Given the description of an element on the screen output the (x, y) to click on. 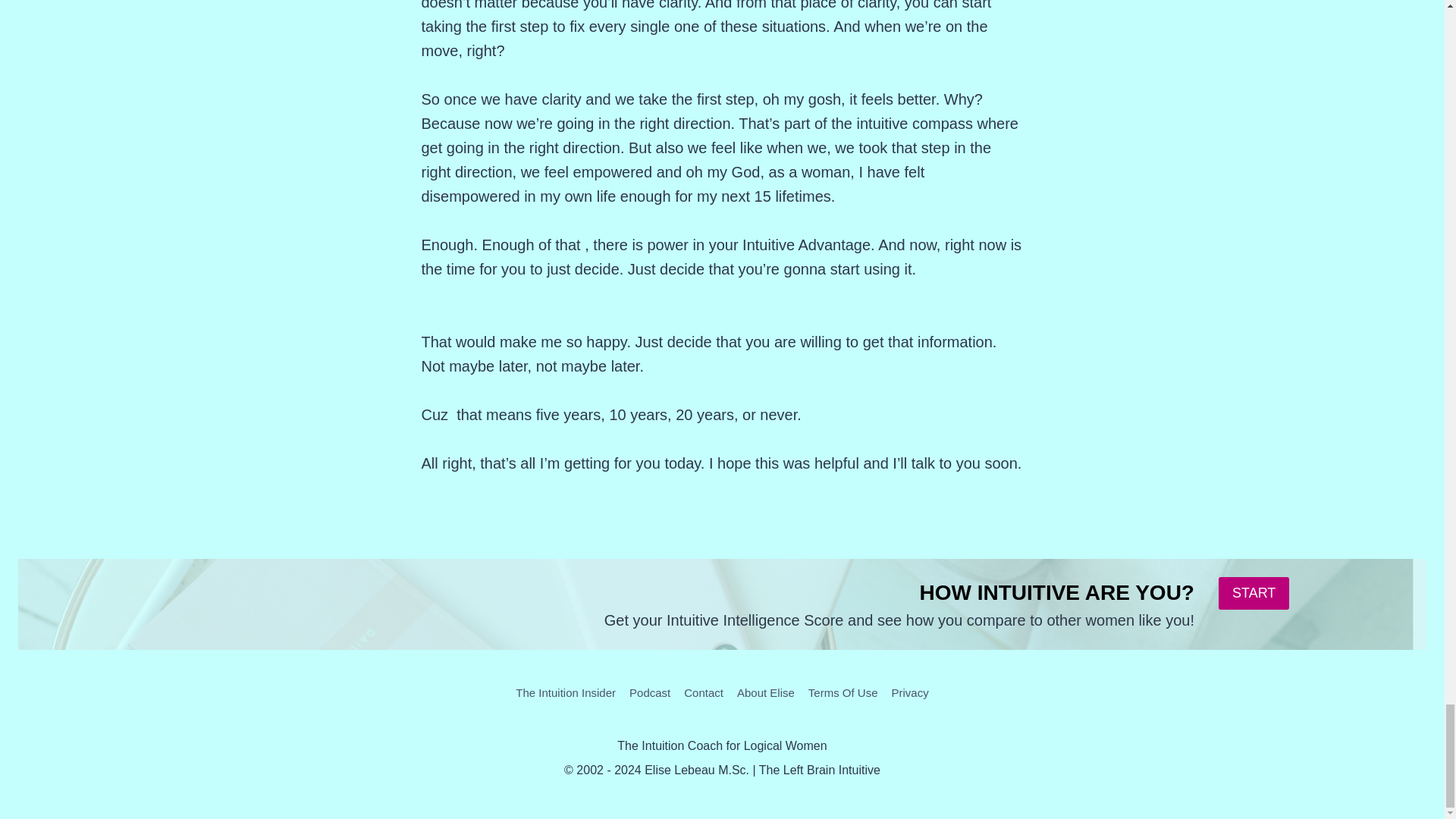
About Elise (766, 692)
The Intuition Insider (565, 692)
Podcast (650, 692)
Terms Of Use (843, 692)
START (1253, 593)
Contact (703, 692)
Privacy (910, 692)
